Given the description of an element on the screen output the (x, y) to click on. 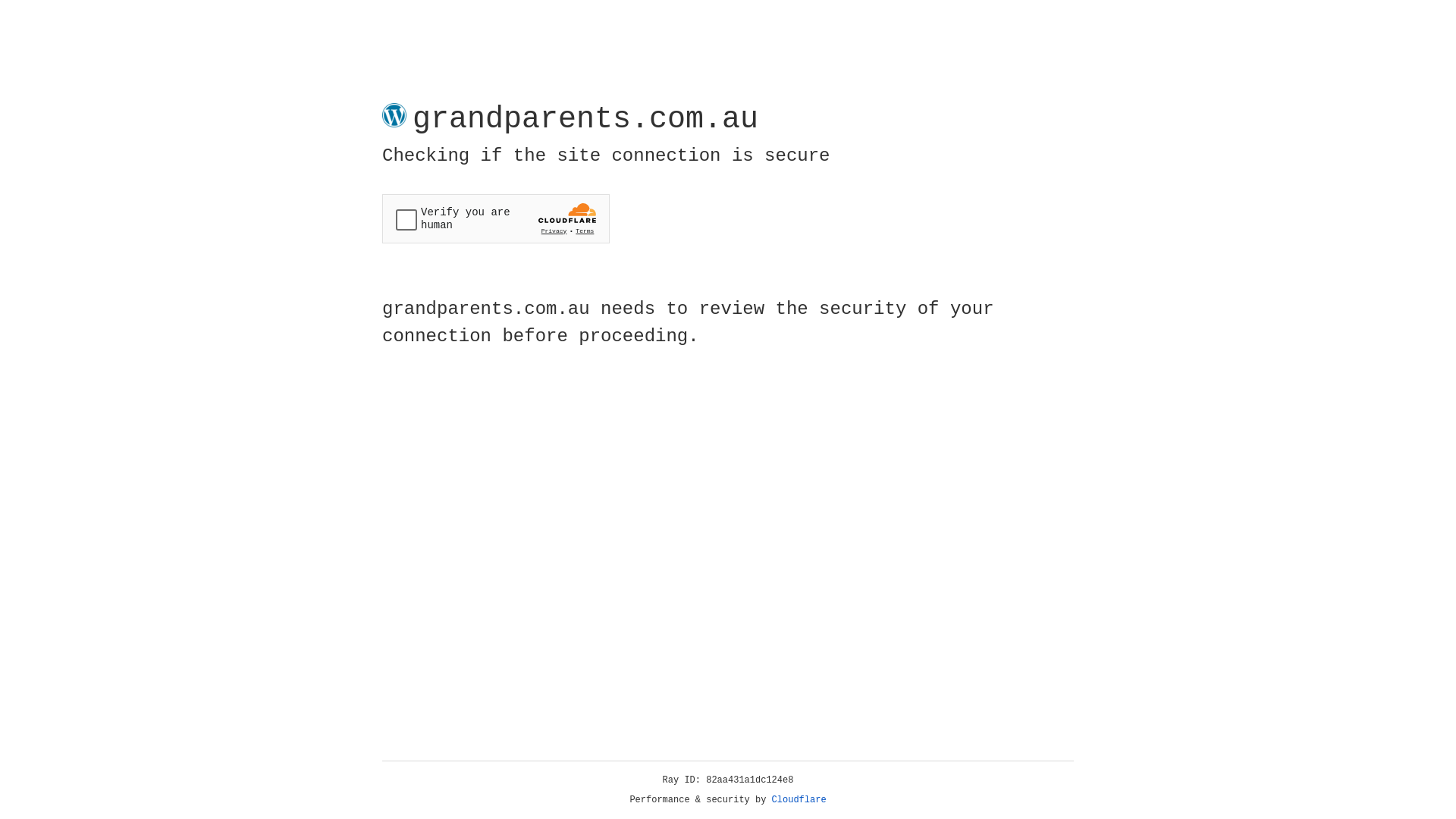
Widget containing a Cloudflare security challenge Element type: hover (495, 218)
Cloudflare Element type: text (798, 799)
